Given the description of an element on the screen output the (x, y) to click on. 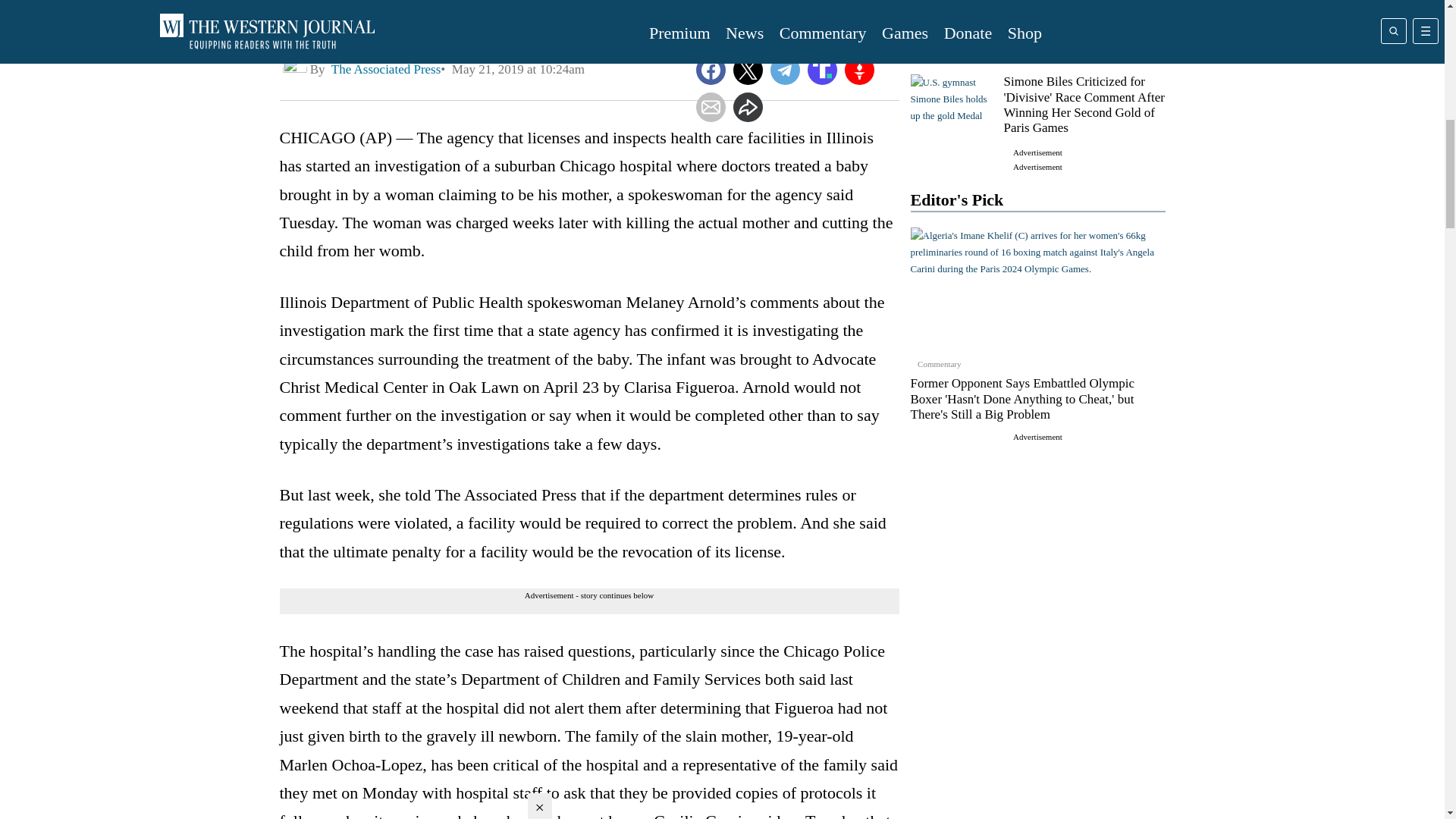
Commentary (952, 20)
